Given the description of an element on the screen output the (x, y) to click on. 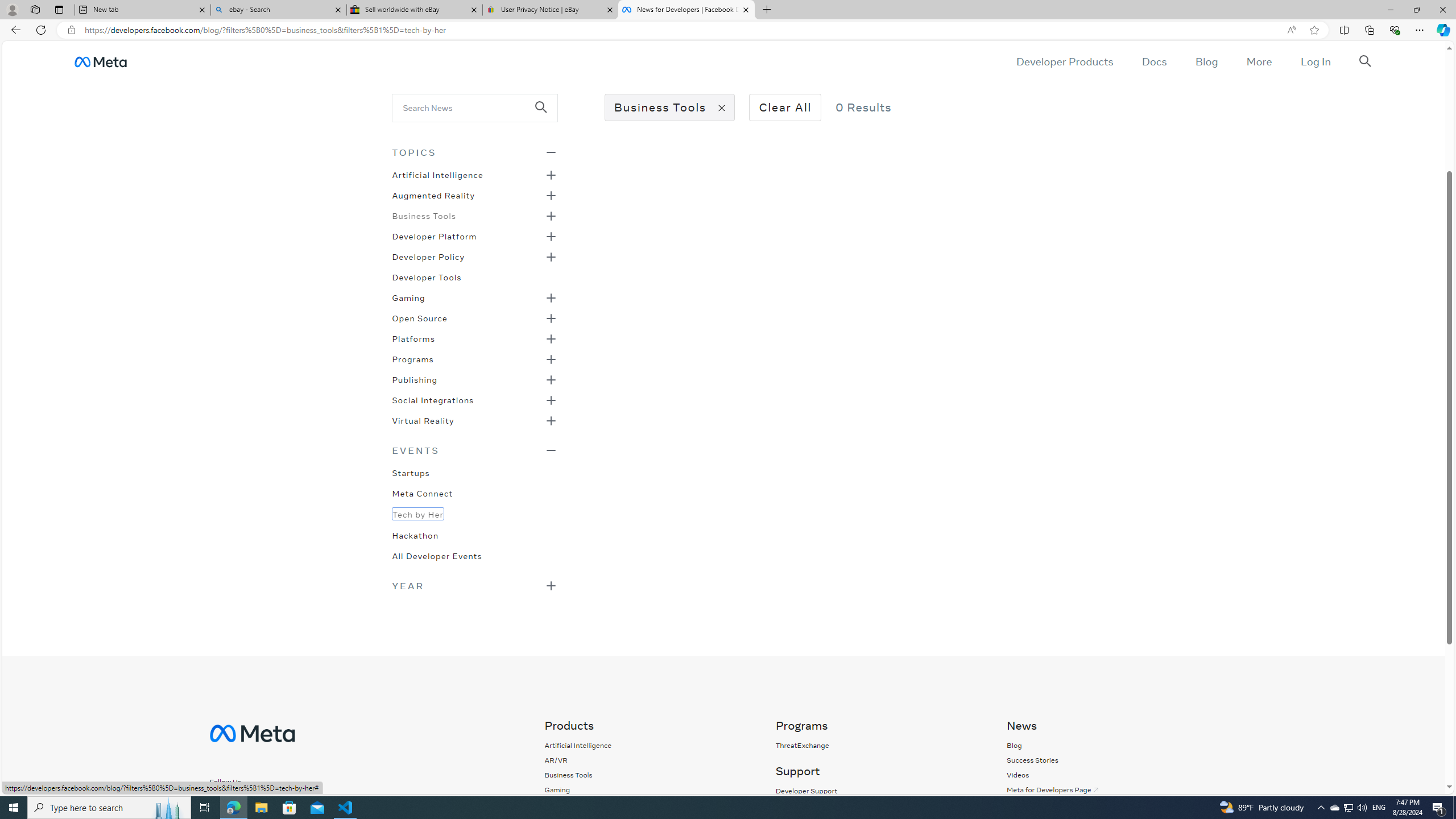
Sell worldwide with eBay (414, 9)
Videos (1017, 774)
Success Stories (1110, 760)
Developer Policy (428, 255)
Developer Support (878, 790)
Virtual Reality (422, 419)
Log In (1315, 61)
Class: _98ce (545, 115)
All Developer Events (436, 554)
Augmented Reality (433, 194)
